Given the description of an element on the screen output the (x, y) to click on. 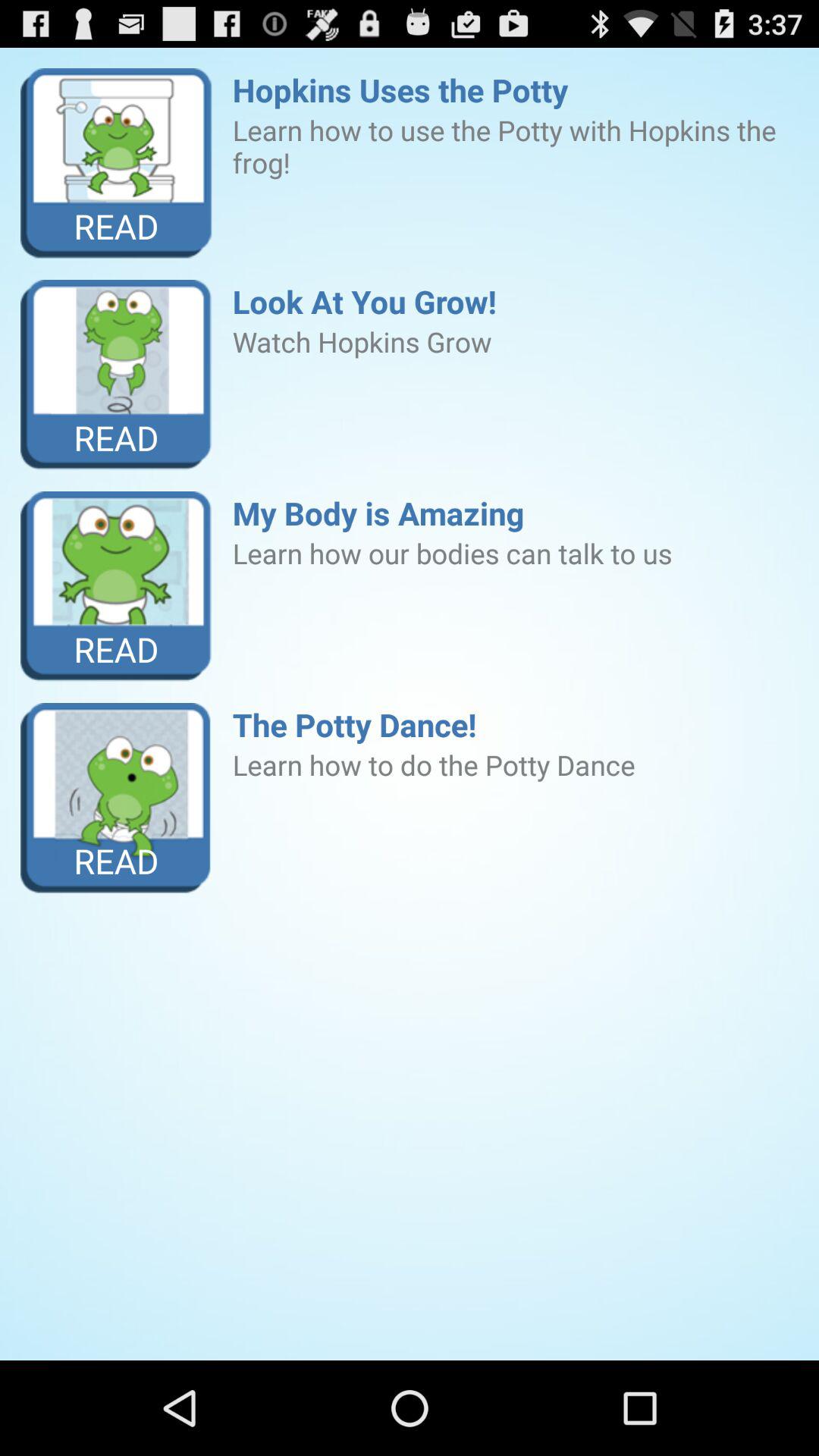
choose the item next to the hopkins uses the icon (116, 163)
